Given the description of an element on the screen output the (x, y) to click on. 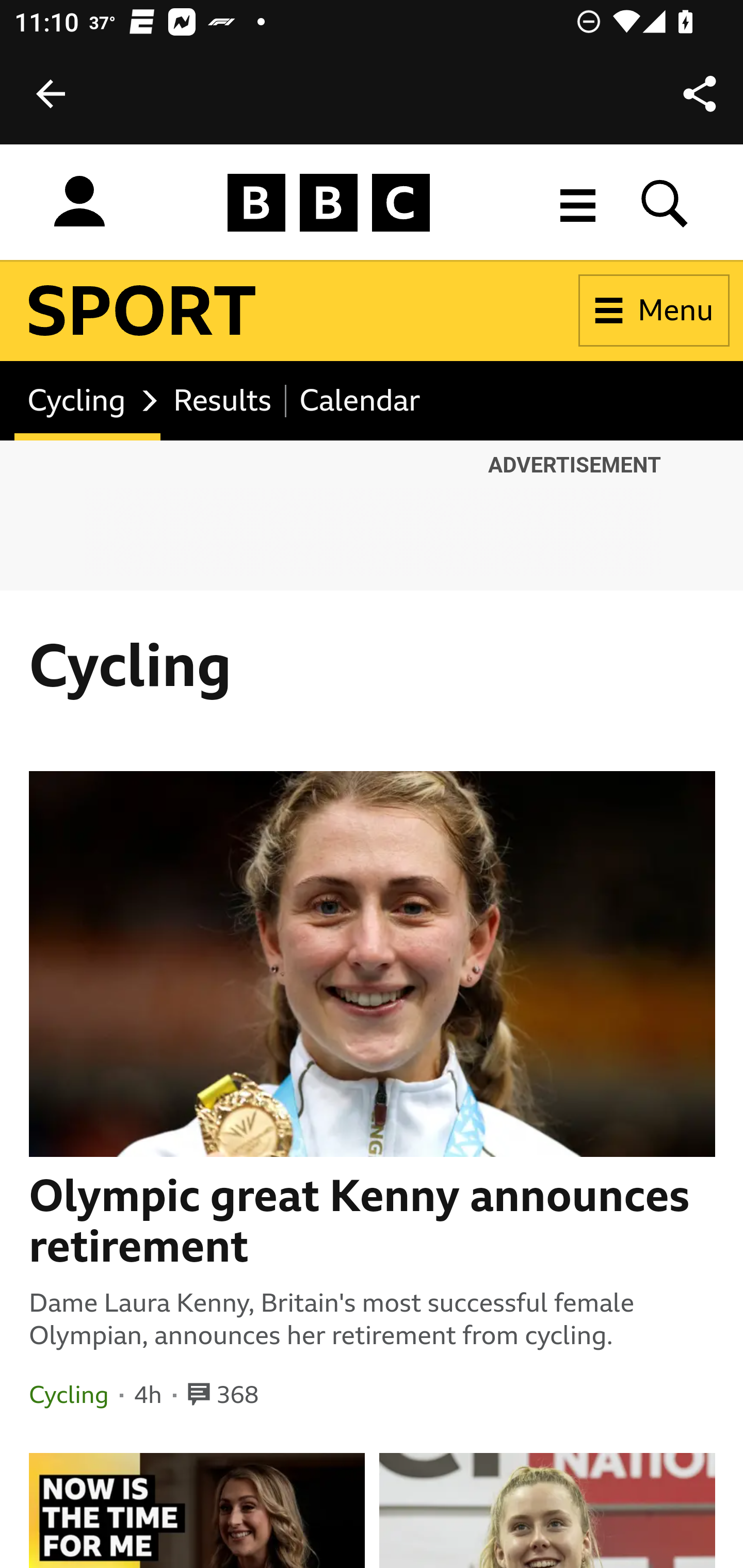
Back (50, 93)
Share (699, 93)
Sign in (79, 202)
BBC Homepage (329, 202)
More menu (578, 202)
Search BBC (665, 202)
BBC Sport (142, 311)
Menu (654, 311)
Cycling (87, 400)
Results (222, 400)
Calendar (359, 400)
Olympic great Kenny announces retirement (372, 1221)
Cycling (68, 1394)
Laura Kenny (197, 1509)
Great Britain's Emma Finucane (547, 1509)
